Given the description of an element on the screen output the (x, y) to click on. 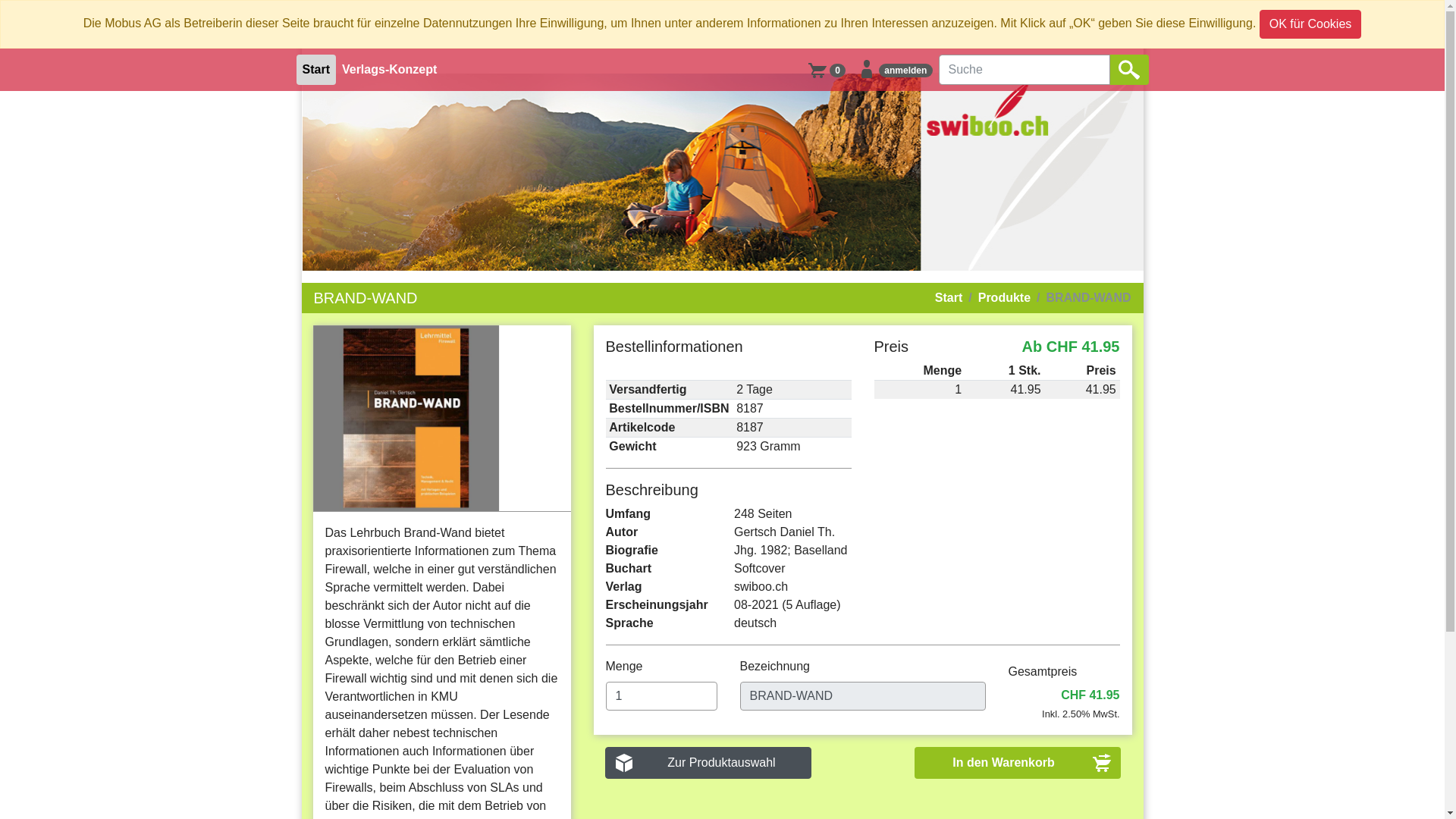
In den Warenkorb Element type: text (1017, 762)
anmelden Element type: text (894, 68)
0 Element type: text (826, 68)
Warenkorb Element type: hover (817, 68)
Start Element type: text (948, 297)
Start Element type: text (315, 69)
Verlags-Konzept Element type: text (388, 69)
Produkte Element type: text (996, 297)
Zur Produktauswahl Element type: text (708, 762)
